Given the description of an element on the screen output the (x, y) to click on. 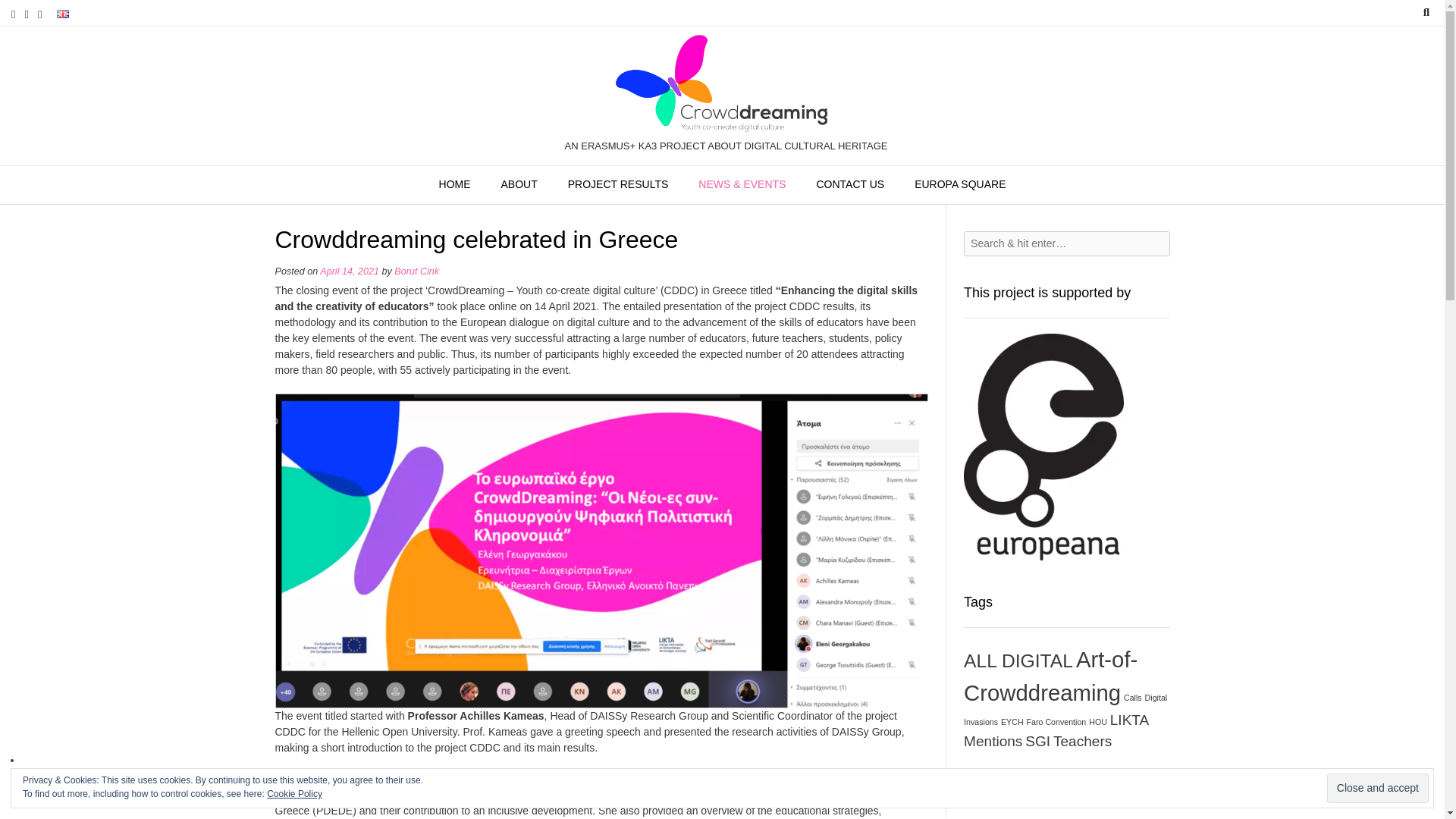
PROJECT RESULTS (618, 185)
April 14, 2021 (349, 271)
Borut Cink (416, 271)
HOME (454, 185)
Search for: (1066, 243)
Close and accept (1377, 788)
EUROPA SQUARE (959, 185)
CDDC (721, 85)
ABOUT (519, 185)
